Given the description of an element on the screen output the (x, y) to click on. 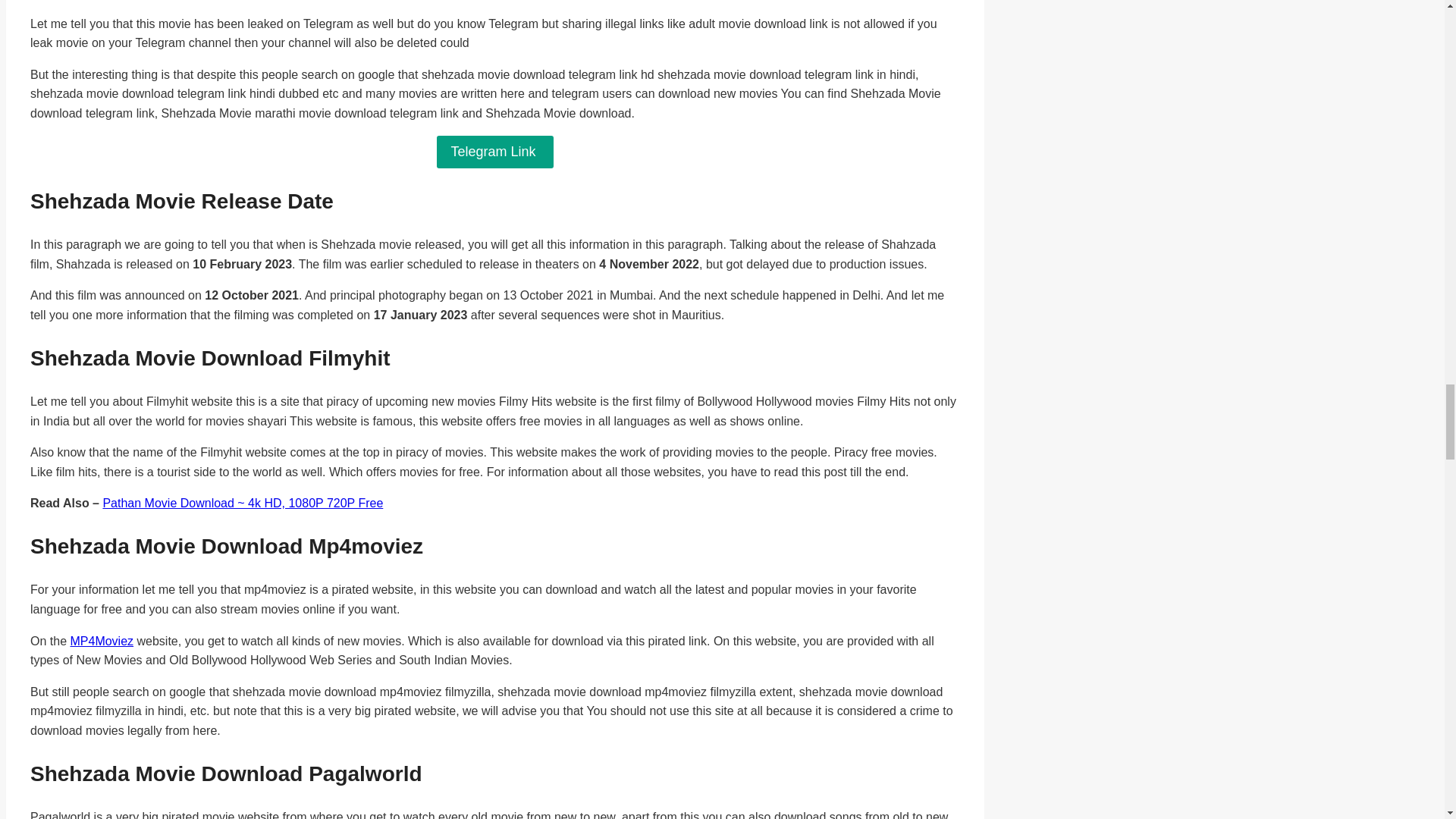
MP4Moviez (101, 640)
Telegram Link  (494, 151)
